Given the description of an element on the screen output the (x, y) to click on. 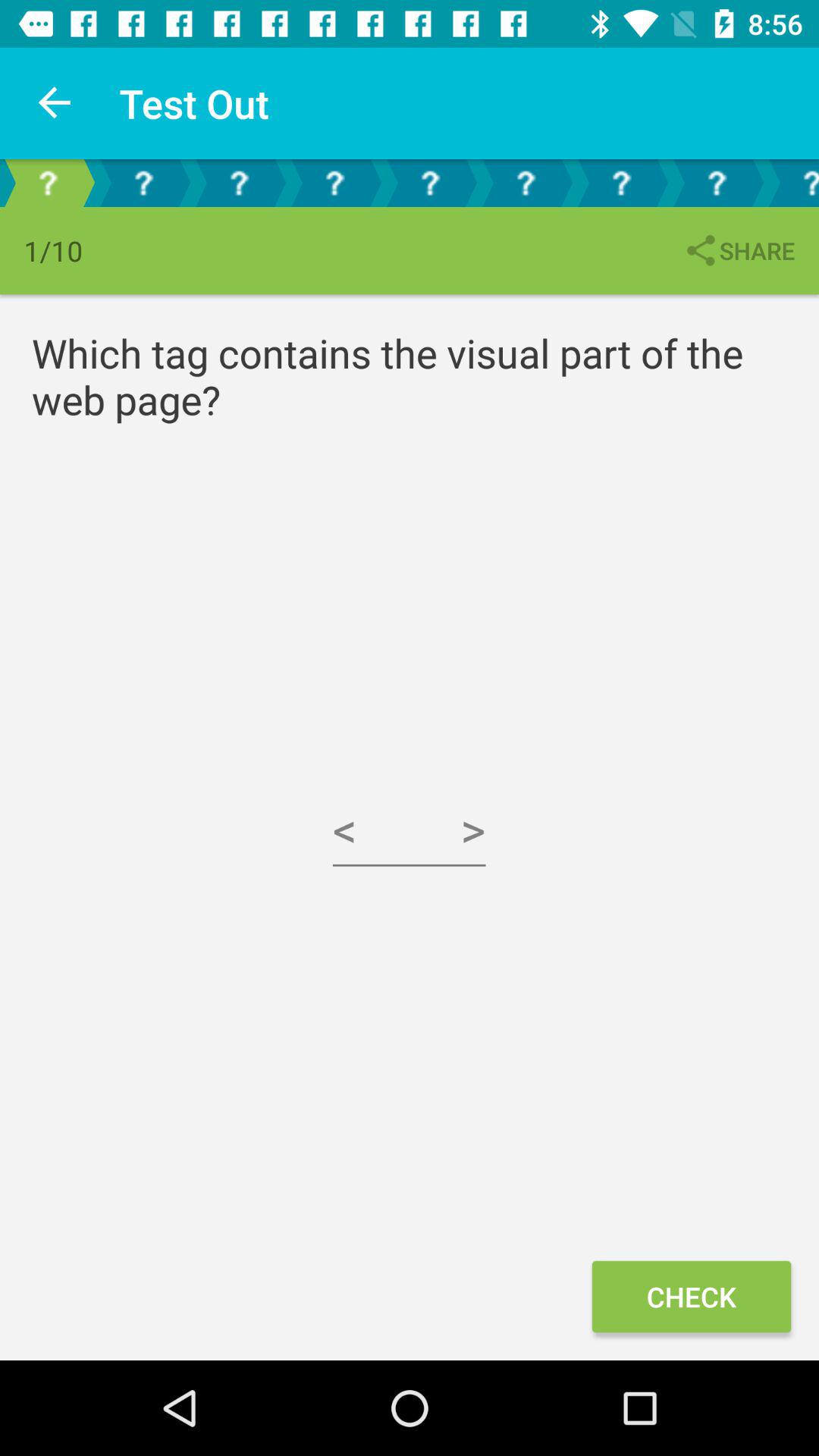
question mark (238, 183)
